Given the description of an element on the screen output the (x, y) to click on. 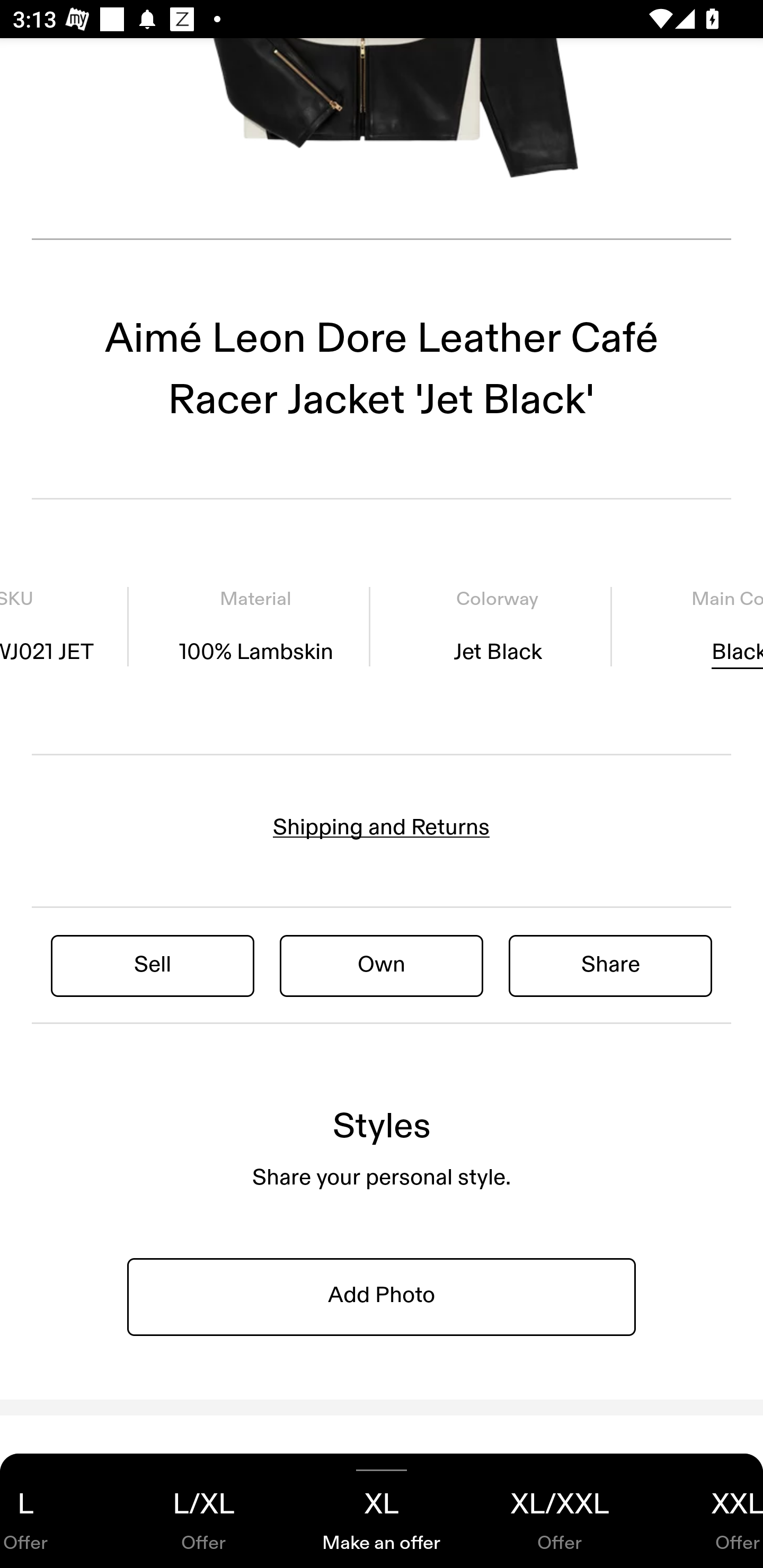
Material 100% Lambskin (255, 626)
Colorway Jet Black (497, 626)
Shipping and Returns (381, 827)
Sell (152, 964)
Own (381, 964)
Share (609, 964)
Add Photo (381, 1295)
L Offer (57, 1510)
L/XL Offer (203, 1510)
XL Make an offer (381, 1510)
XL/XXL Offer (559, 1510)
XXL Offer (705, 1510)
